Given the description of an element on the screen output the (x, y) to click on. 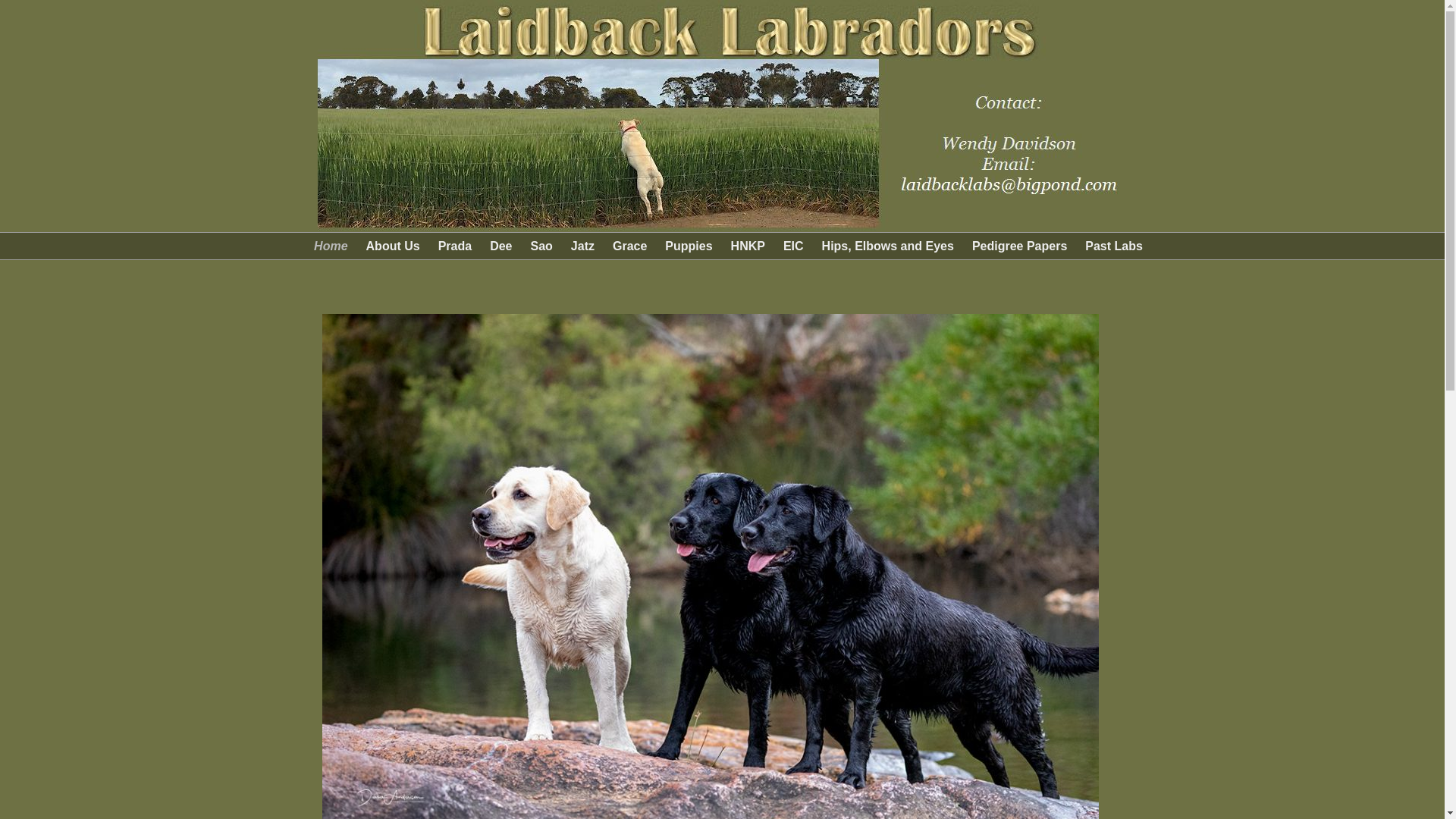
Home Element type: text (330, 245)
Past Labs Element type: text (1113, 245)
  Element type: text (323, 285)
About Us Element type: text (393, 245)
Puppies Element type: text (688, 245)
Grace Element type: text (629, 245)
EIC Element type: text (793, 245)
Pedigree Papers Element type: text (1019, 245)
Dee Element type: text (500, 245)
Sao Element type: text (541, 245)
Hips, Elbows and Eyes Element type: text (887, 245)
Jatz Element type: text (582, 245)
HNKP Element type: text (747, 245)
Prada Element type: text (454, 245)
